Given the description of an element on the screen output the (x, y) to click on. 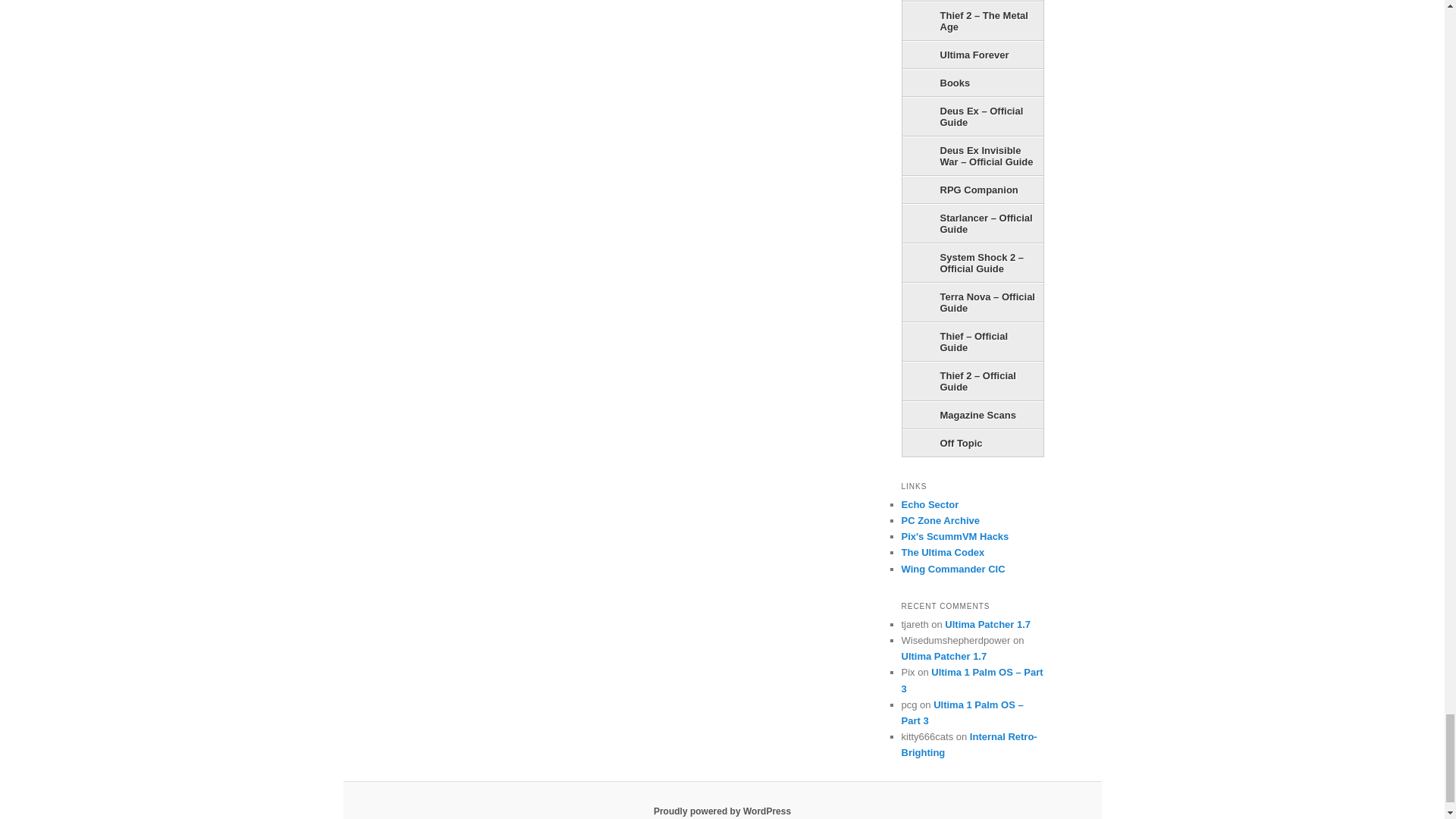
The best source for news on all things Ultima (942, 552)
Semantic Personal Publishing Platform (721, 810)
The best source for news on all things Wing Commander (952, 568)
The home of all things Crusader (929, 504)
